Given the description of an element on the screen output the (x, y) to click on. 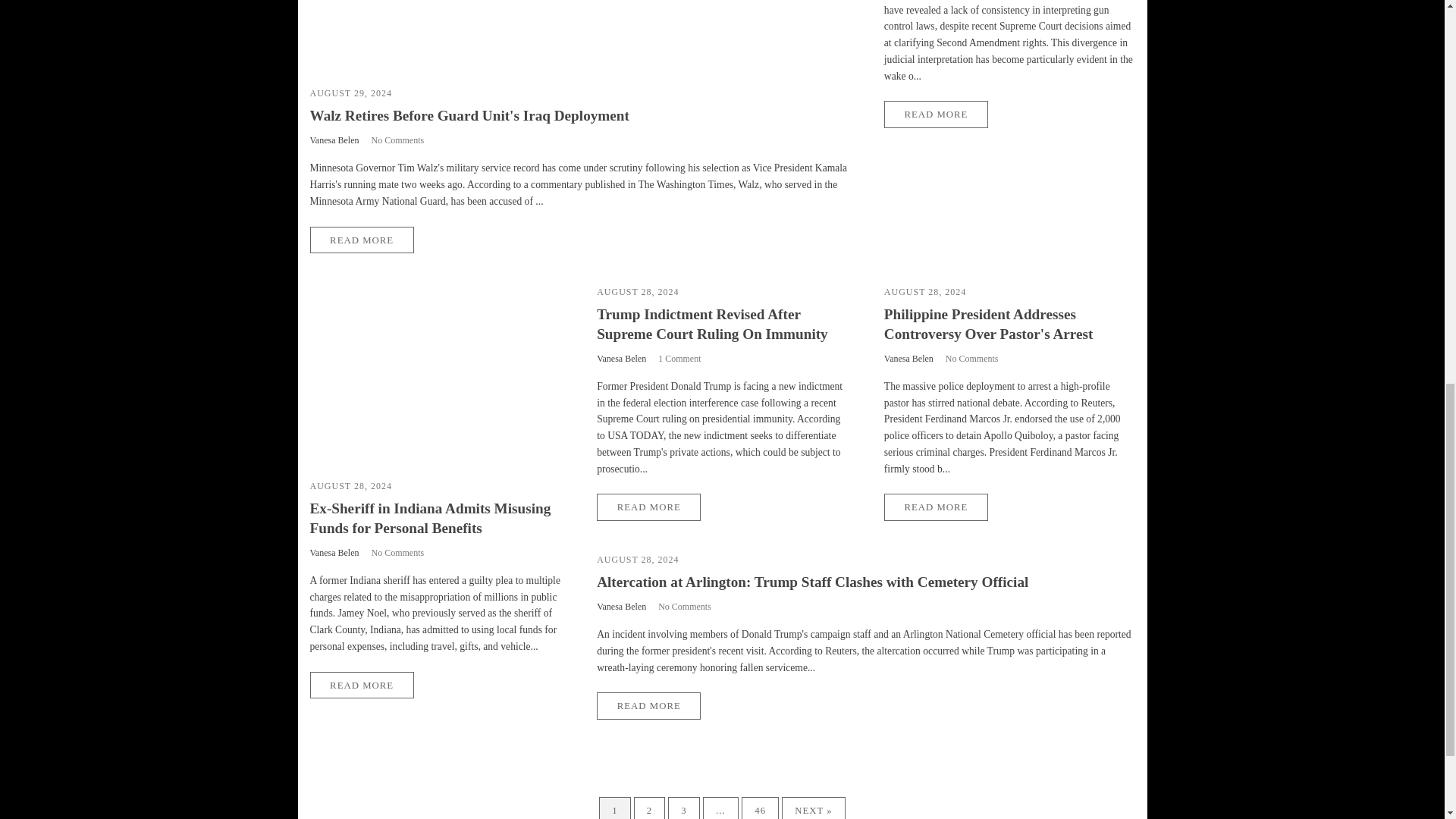
No Comments (397, 140)
READ MORE (935, 113)
2 (649, 807)
READ MORE (935, 506)
READ MORE (360, 239)
No Comments (971, 357)
READ MORE (360, 684)
1 Comment (679, 357)
